Given the description of an element on the screen output the (x, y) to click on. 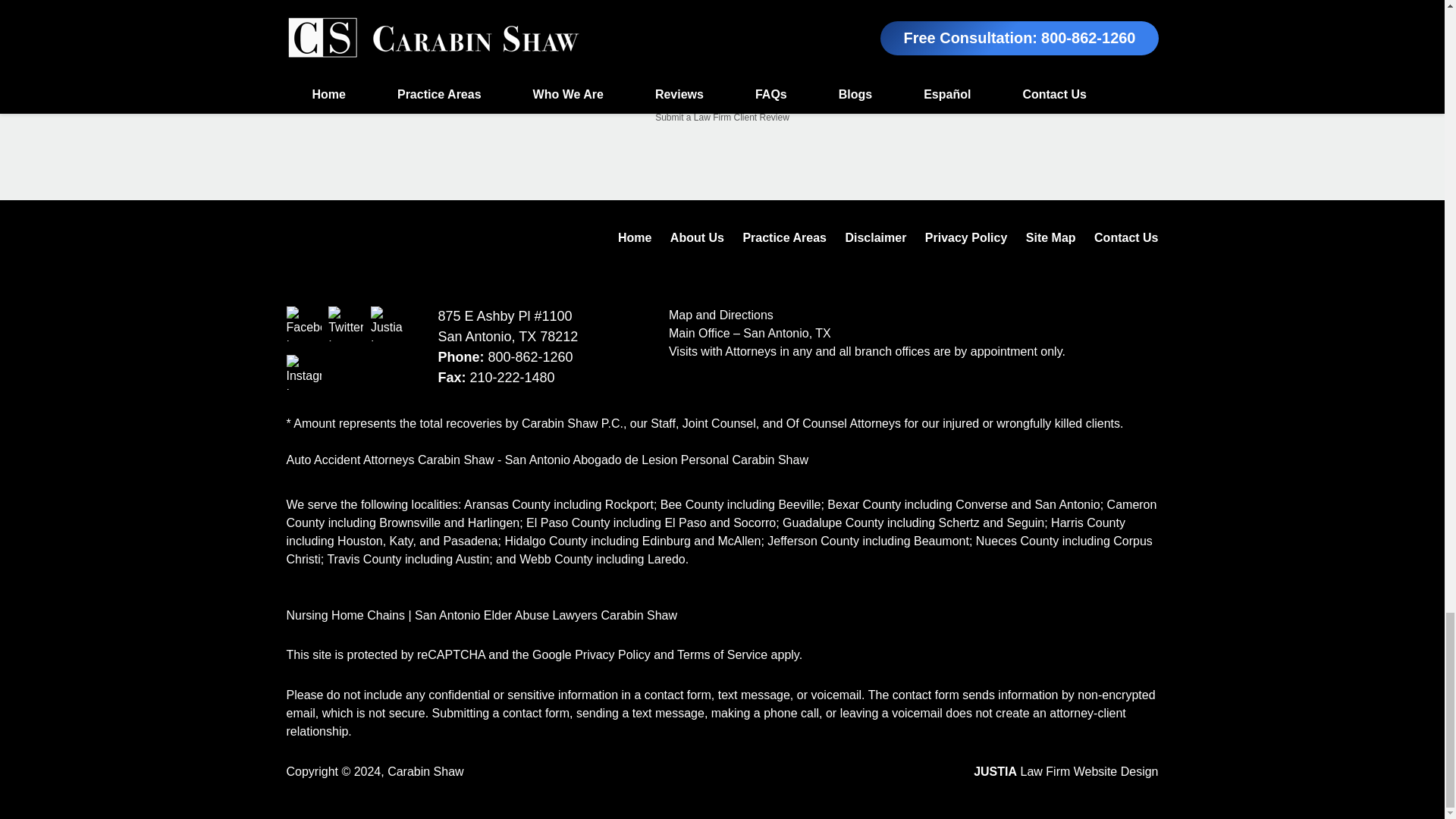
Instagram (303, 371)
Justia (388, 323)
Twitter (345, 323)
Facebook (303, 323)
